Given the description of an element on the screen output the (x, y) to click on. 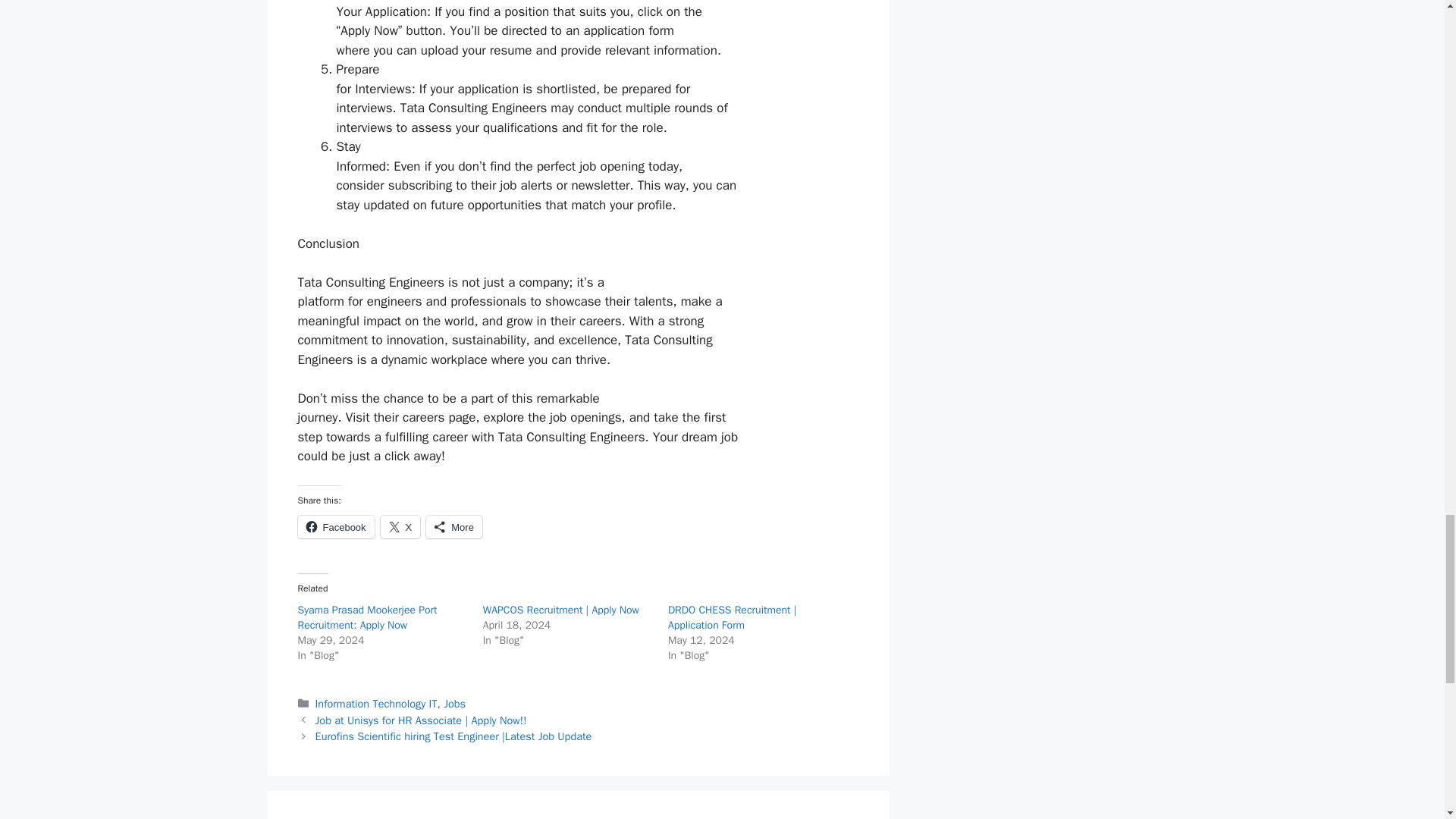
More (453, 526)
Click to share on Facebook (335, 526)
Facebook (335, 526)
Syama Prasad Mookerjee Port Recruitment: Apply Now (366, 617)
X (400, 526)
Click to share on X (400, 526)
